Given the description of an element on the screen output the (x, y) to click on. 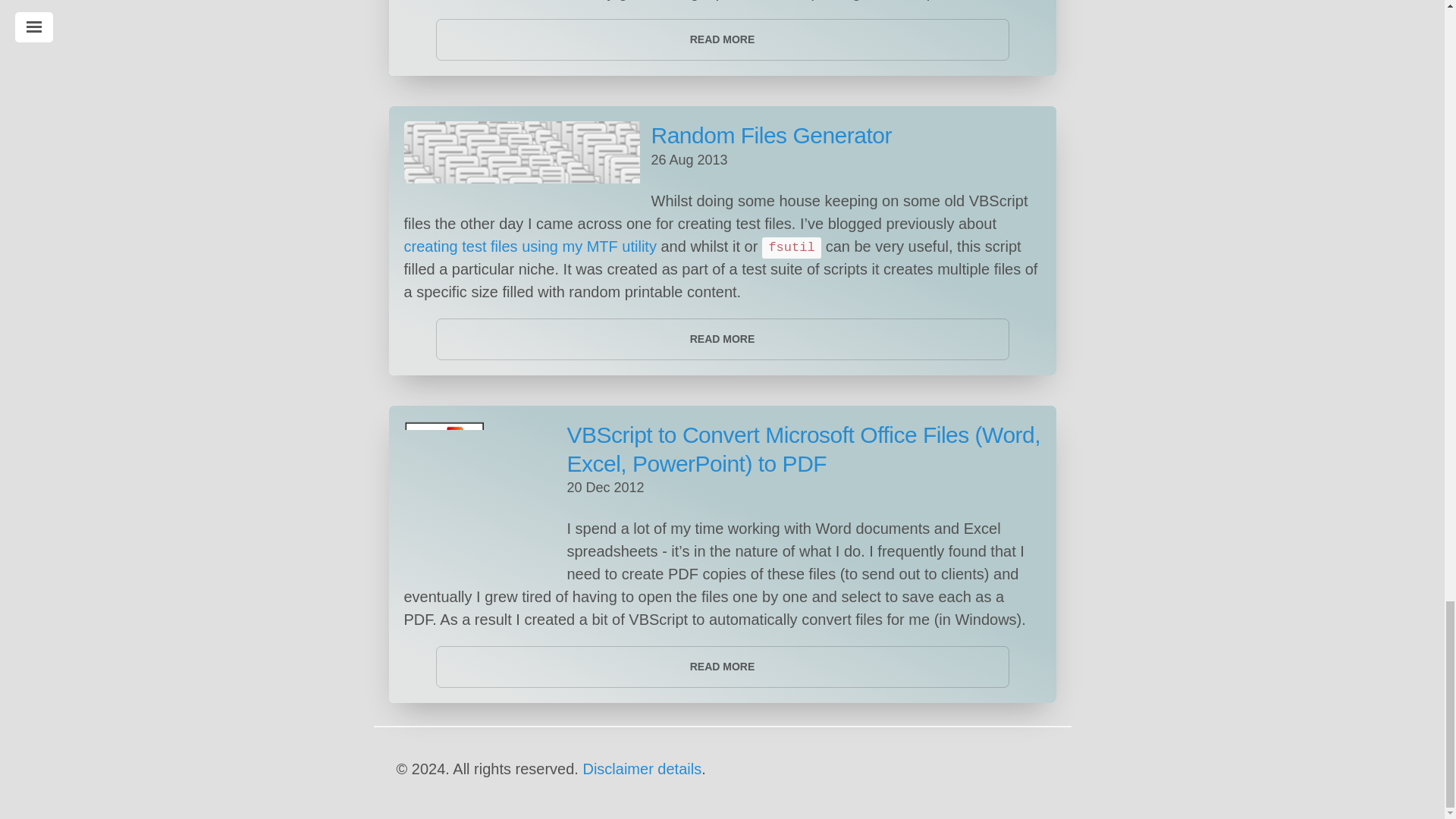
Disclaimer details (641, 768)
Random Files Generator (770, 135)
READ MORE (722, 339)
READ MORE (722, 39)
READ MORE (722, 666)
creating test files using my MTF utility (529, 246)
